Given the description of an element on the screen output the (x, y) to click on. 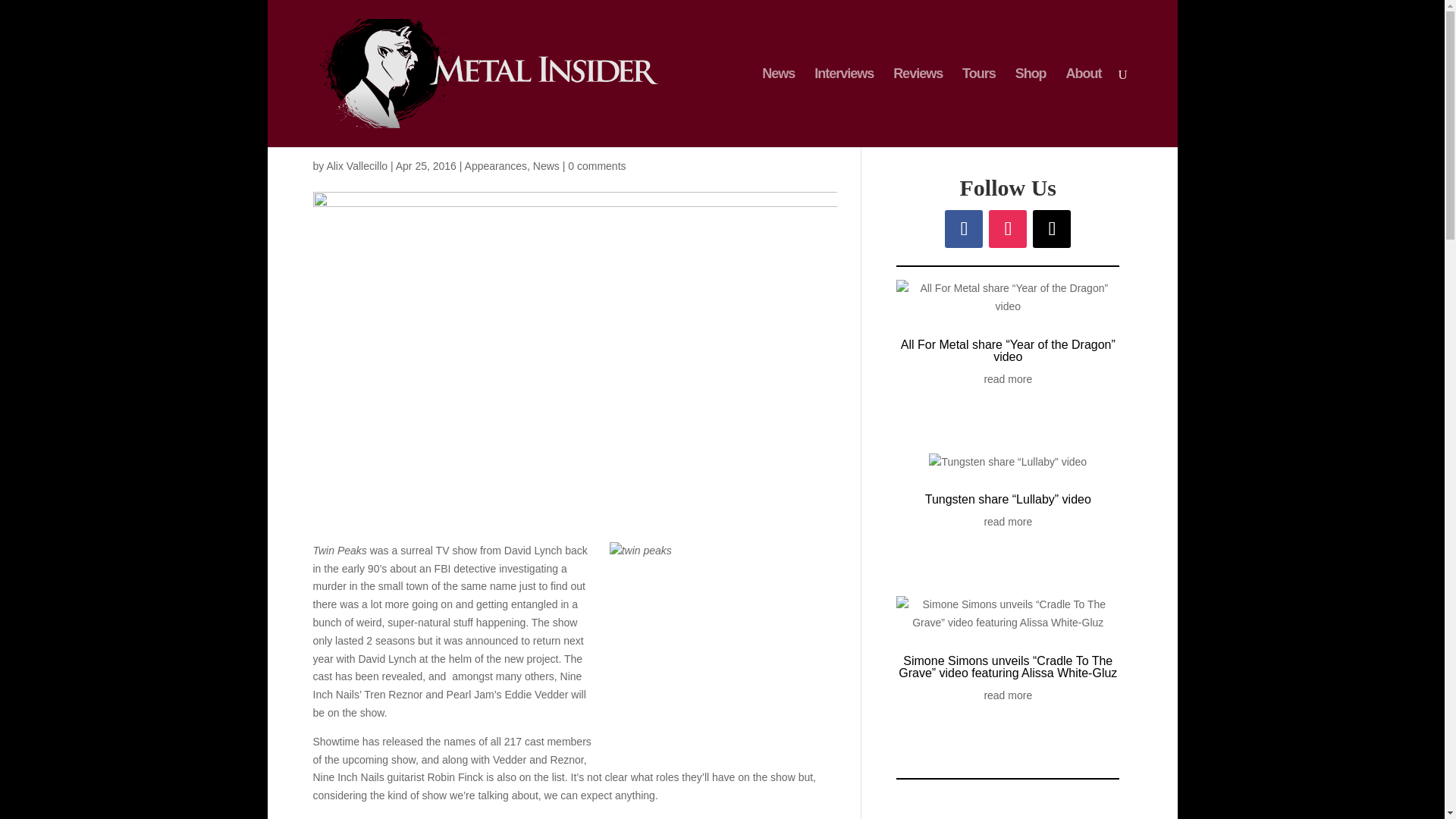
read more (1007, 696)
Alix Vallecillo (356, 165)
read more (1007, 380)
Follow on Instagram (1007, 228)
0 comments (596, 165)
Follow on X (1051, 228)
Appearances (495, 165)
Follow on Facebook (963, 228)
read more (1007, 522)
Posts by Alix Vallecillo (356, 165)
